Given the description of an element on the screen output the (x, y) to click on. 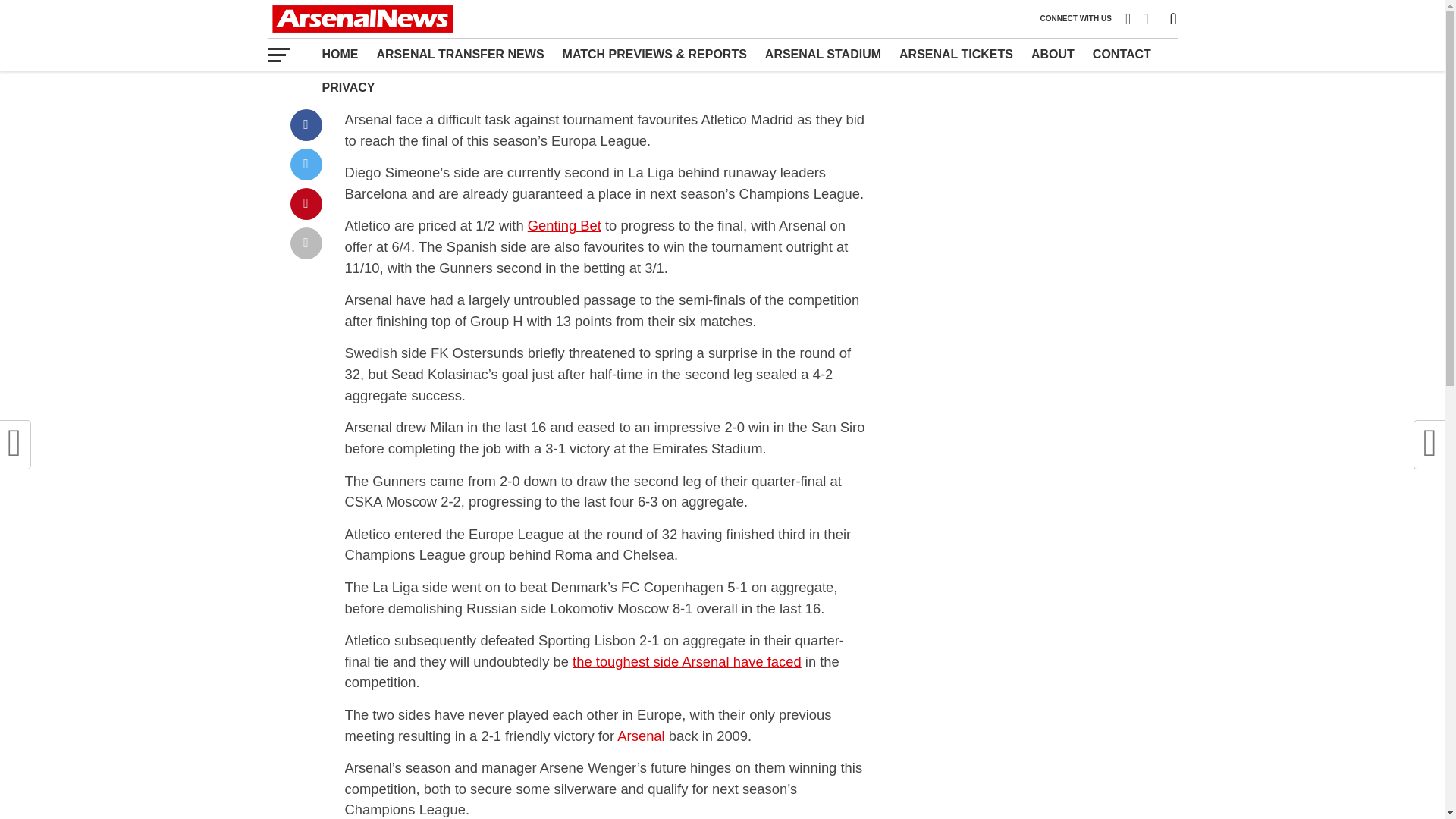
the toughest side Arsenal have faced (687, 661)
ARSENAL TICKETS (955, 54)
ARSENAL STADIUM (822, 54)
HOME (339, 54)
Genting Bet (564, 225)
ABOUT (1052, 54)
CONTACT (1121, 54)
Arsenal (640, 735)
PRIVACY (348, 87)
ARSENAL TRANSFER NEWS (459, 54)
